Given the description of an element on the screen output the (x, y) to click on. 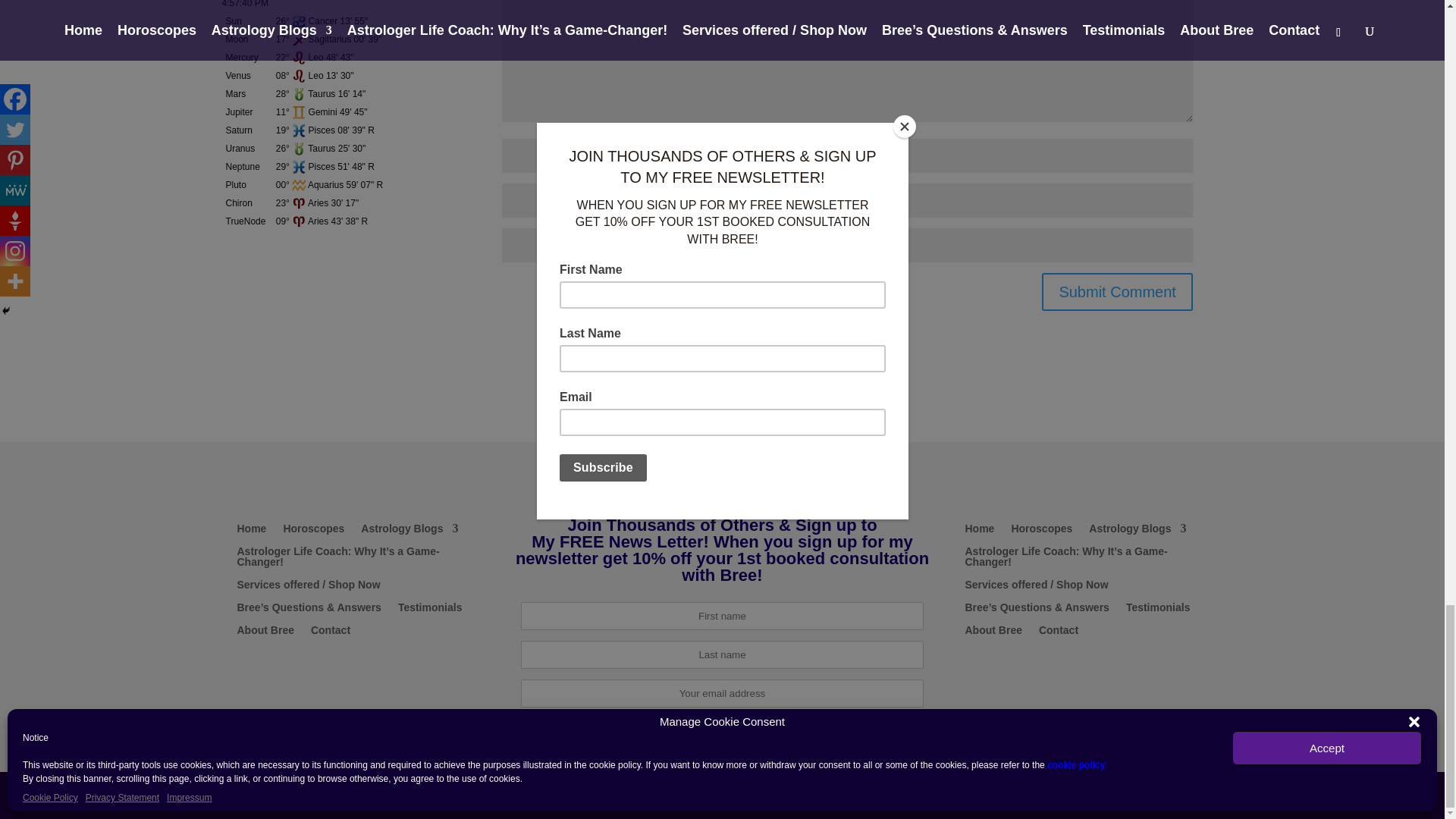
Sign up (722, 732)
